Given the description of an element on the screen output the (x, y) to click on. 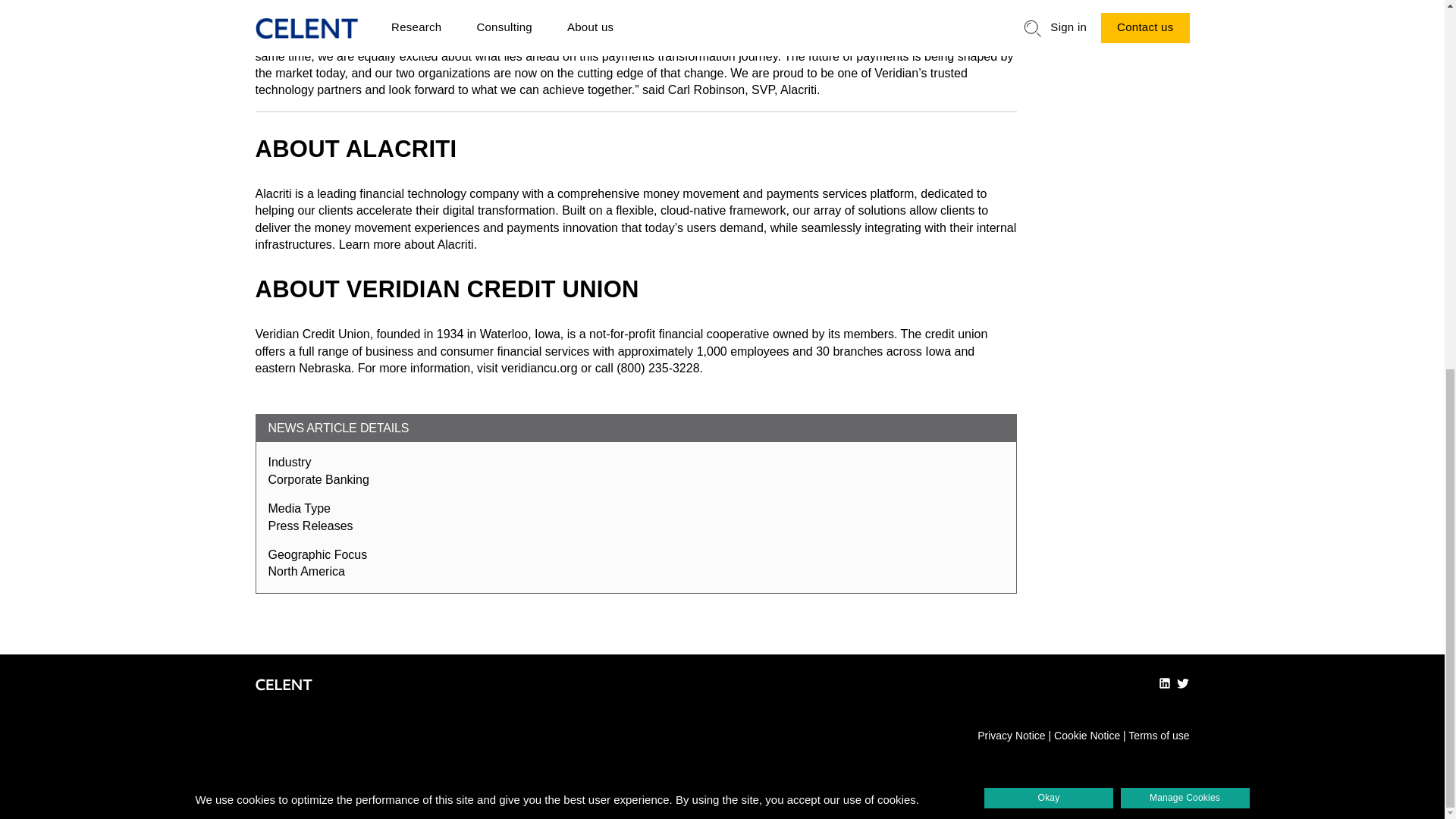
Okay (1048, 128)
Manage Cookies (1185, 128)
